Given the description of an element on the screen output the (x, y) to click on. 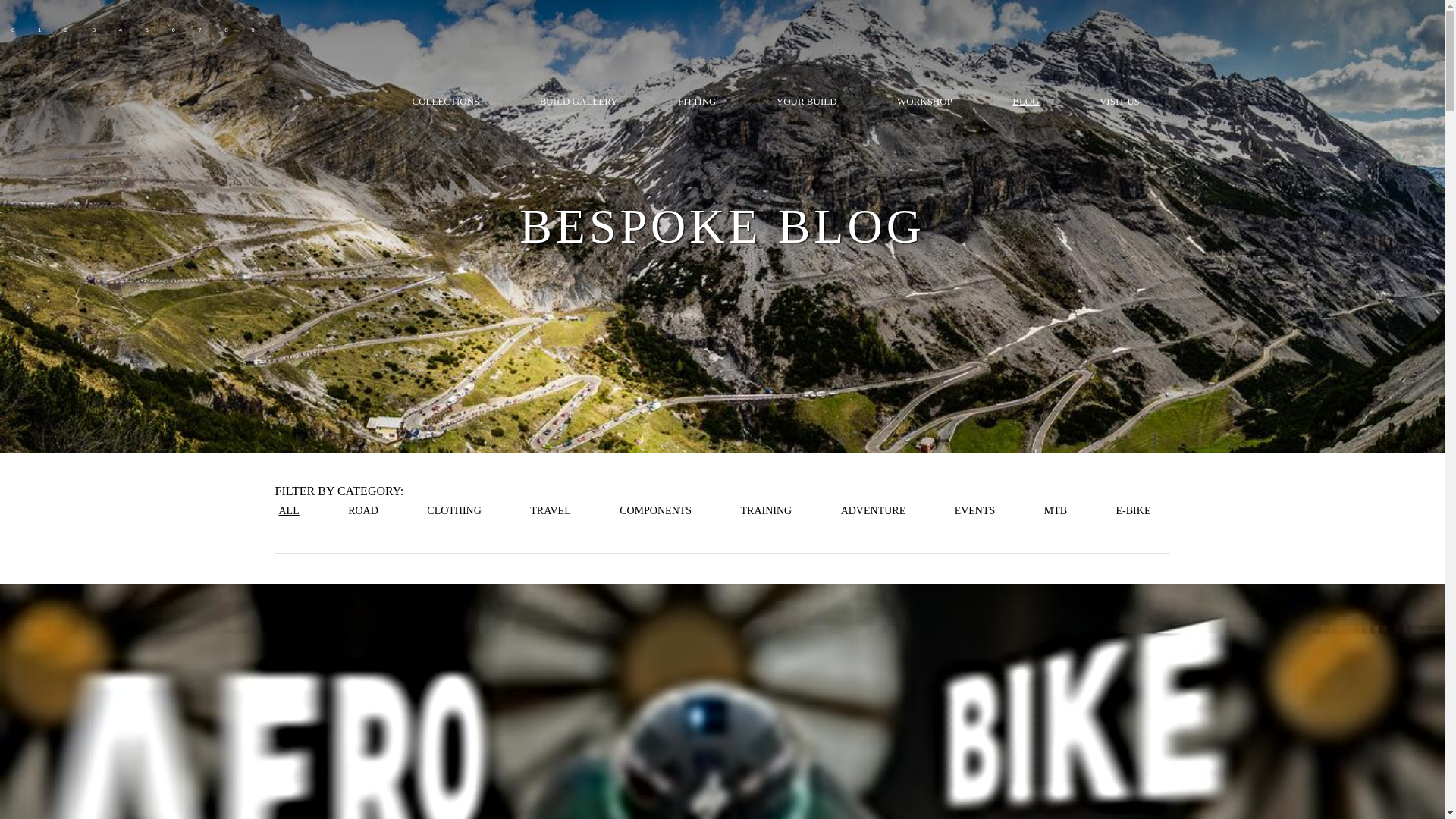
VISIT US (1118, 100)
ROAD (362, 510)
YOUR BUILD (805, 100)
ALL (288, 510)
BUILD GALLERY (578, 100)
TRAINING (766, 510)
ADVENTURE (873, 510)
WORKSHOP (923, 100)
TRAVEL (549, 510)
COLLECTIONS (445, 100)
